Given the description of an element on the screen output the (x, y) to click on. 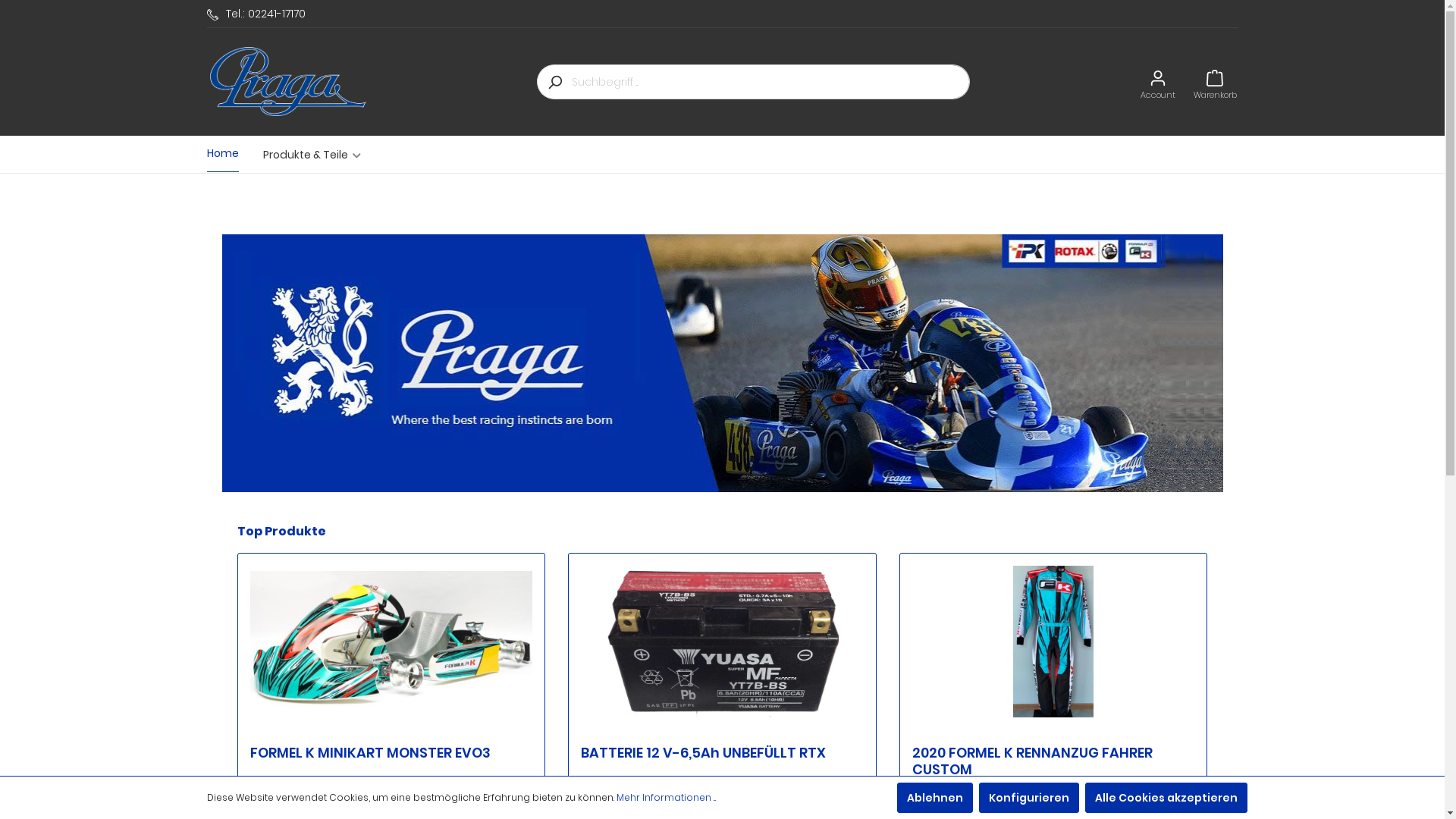
Ablehnen Element type: text (934, 797)
FORMEL K MINIKART MONSTER EVO3 Element type: hover (391, 641)
Account Element type: text (1157, 81)
FORMEL K MINIKART MONSTER EVO3 Element type: text (391, 761)
Konfigurieren Element type: text (1028, 797)
Tel.: 02241-17170 Element type: text (255, 13)
2020 FORMEL K RENNANZUG FAHRER CUSTOM Element type: text (1053, 761)
2020 FORMEL K RENNANZUG FAHRER CUSTOM Element type: hover (1053, 641)
Alle Cookies akzeptieren Element type: text (1165, 797)
Mehr Informationen ... Element type: text (665, 797)
Warenkorb Element type: text (1214, 81)
Home Element type: text (234, 153)
Zur Startseite wechseln Element type: hover (287, 81)
